Given the description of an element on the screen output the (x, y) to click on. 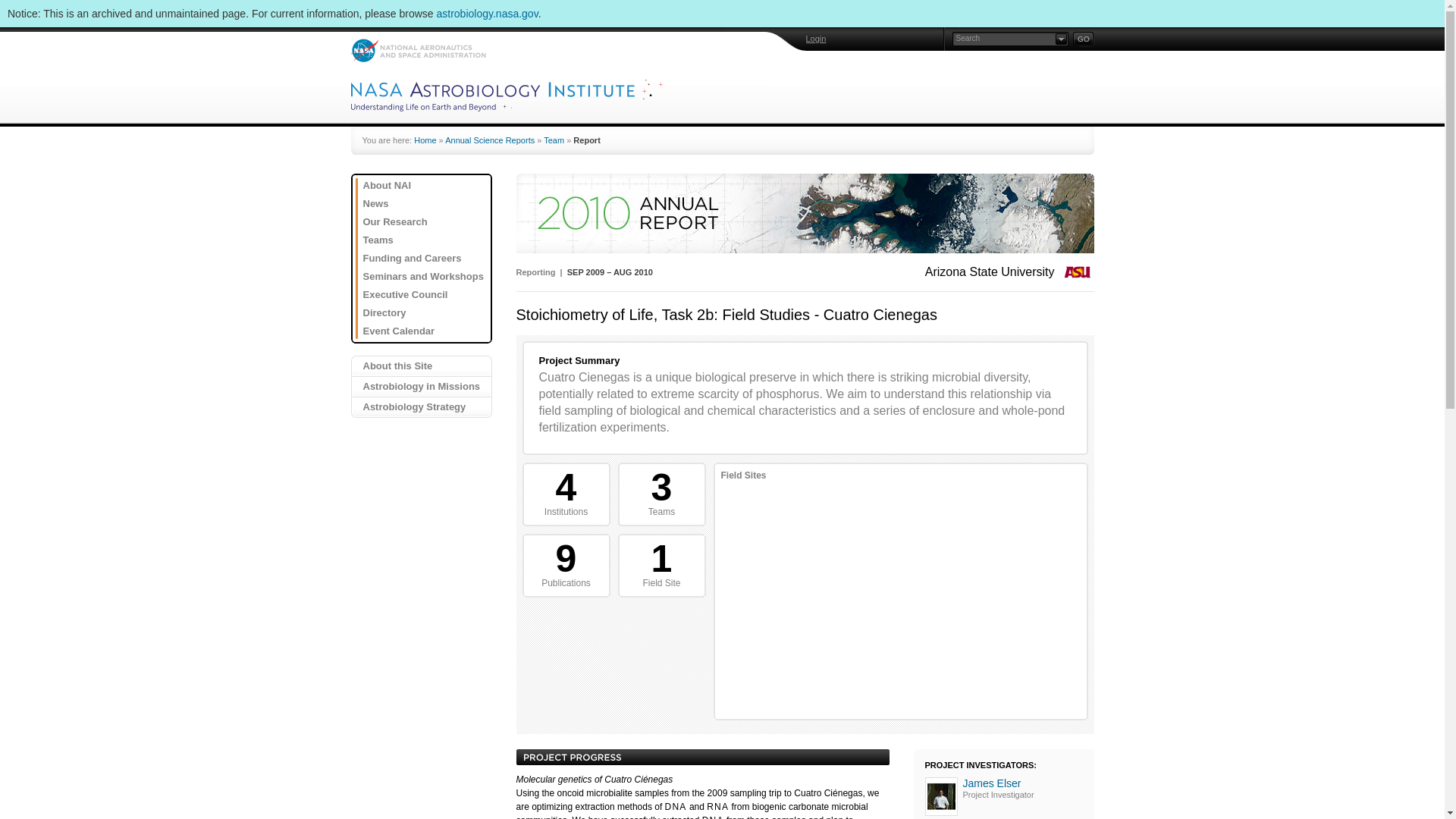
Team (553, 139)
About NAI (424, 185)
About this Site (421, 365)
Annual Science Reports (489, 139)
Event Calendar (424, 331)
News (424, 203)
Astrobiology in Missions (421, 386)
Teams (424, 239)
NASA (418, 50)
Seminars and Workshops (424, 276)
